Given the description of an element on the screen output the (x, y) to click on. 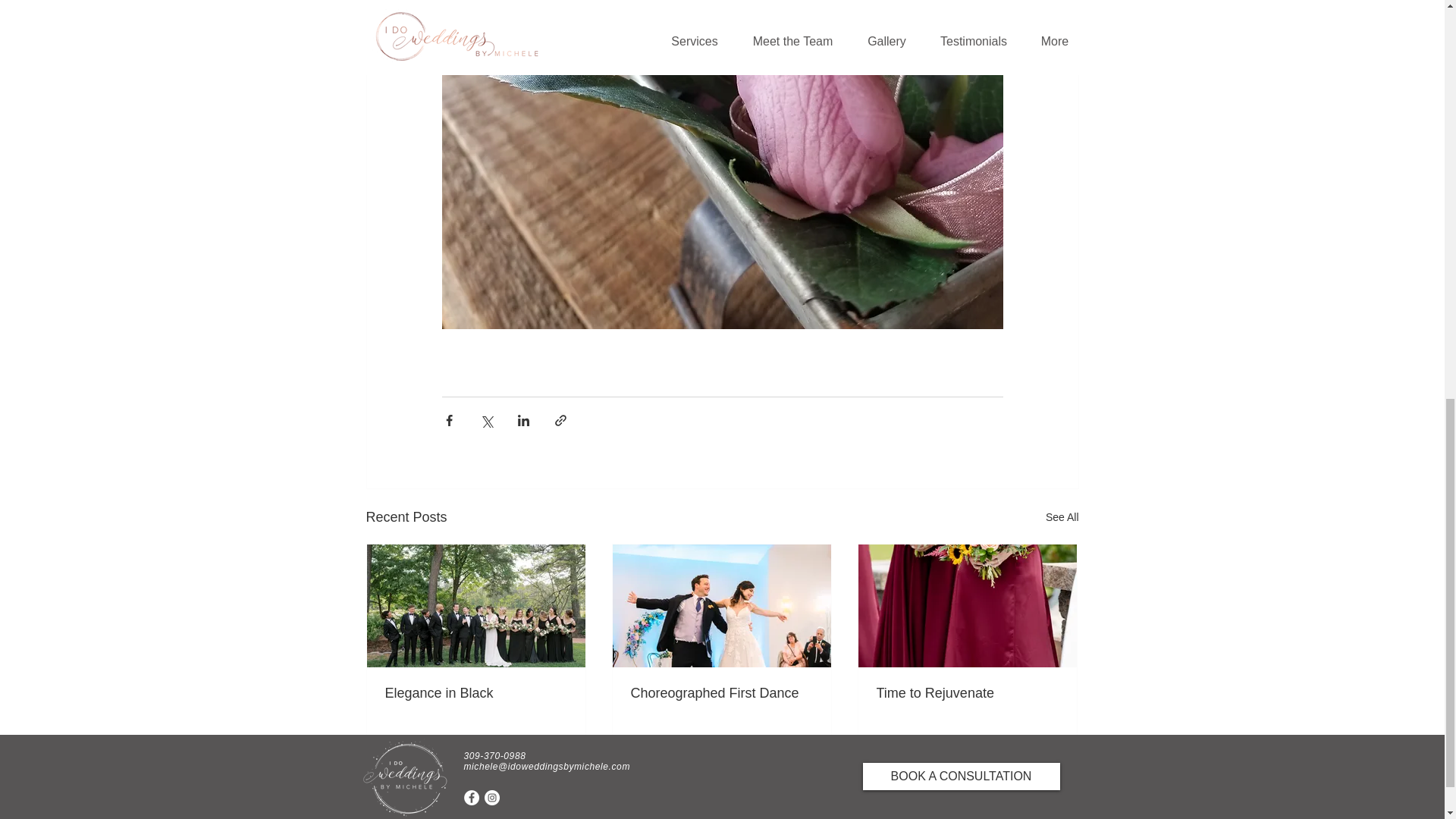
Choreographed First Dance (721, 693)
Time to Rejuvenate (967, 693)
See All (1061, 517)
Elegance in Black (476, 693)
